Given the description of an element on the screen output the (x, y) to click on. 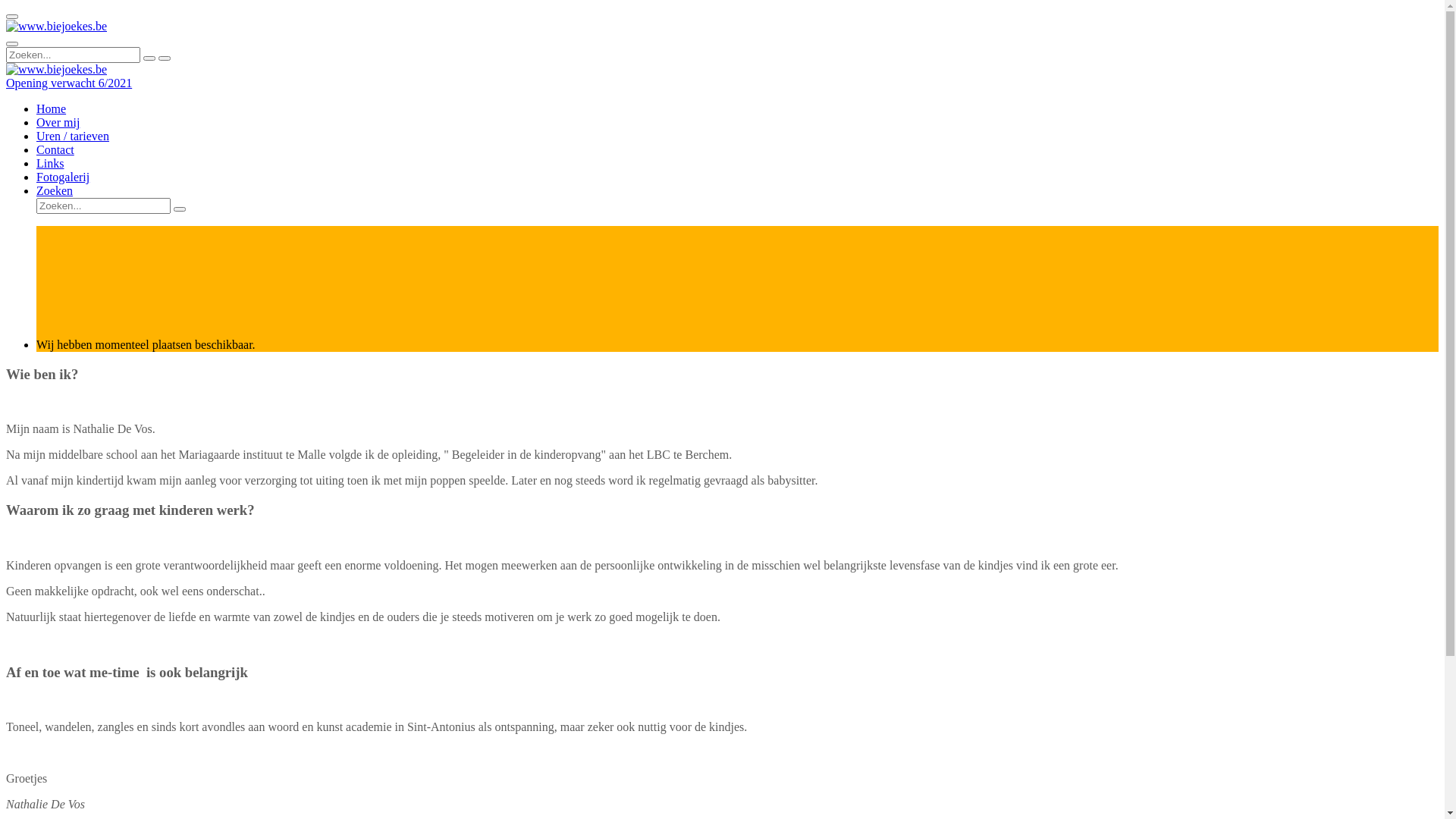
Fotogalerij Element type: text (62, 176)
www.biejoekes.be Element type: hover (56, 69)
Uren / tarieven Element type: text (72, 135)
Contact Element type: text (55, 149)
Links Element type: text (49, 162)
Over mij Element type: text (57, 122)
Zoeken Element type: text (54, 190)
Home Element type: text (50, 108)
Opening verwacht 6/2021 Element type: text (68, 82)
www.biejoekes.be Element type: hover (56, 26)
